Given the description of an element on the screen output the (x, y) to click on. 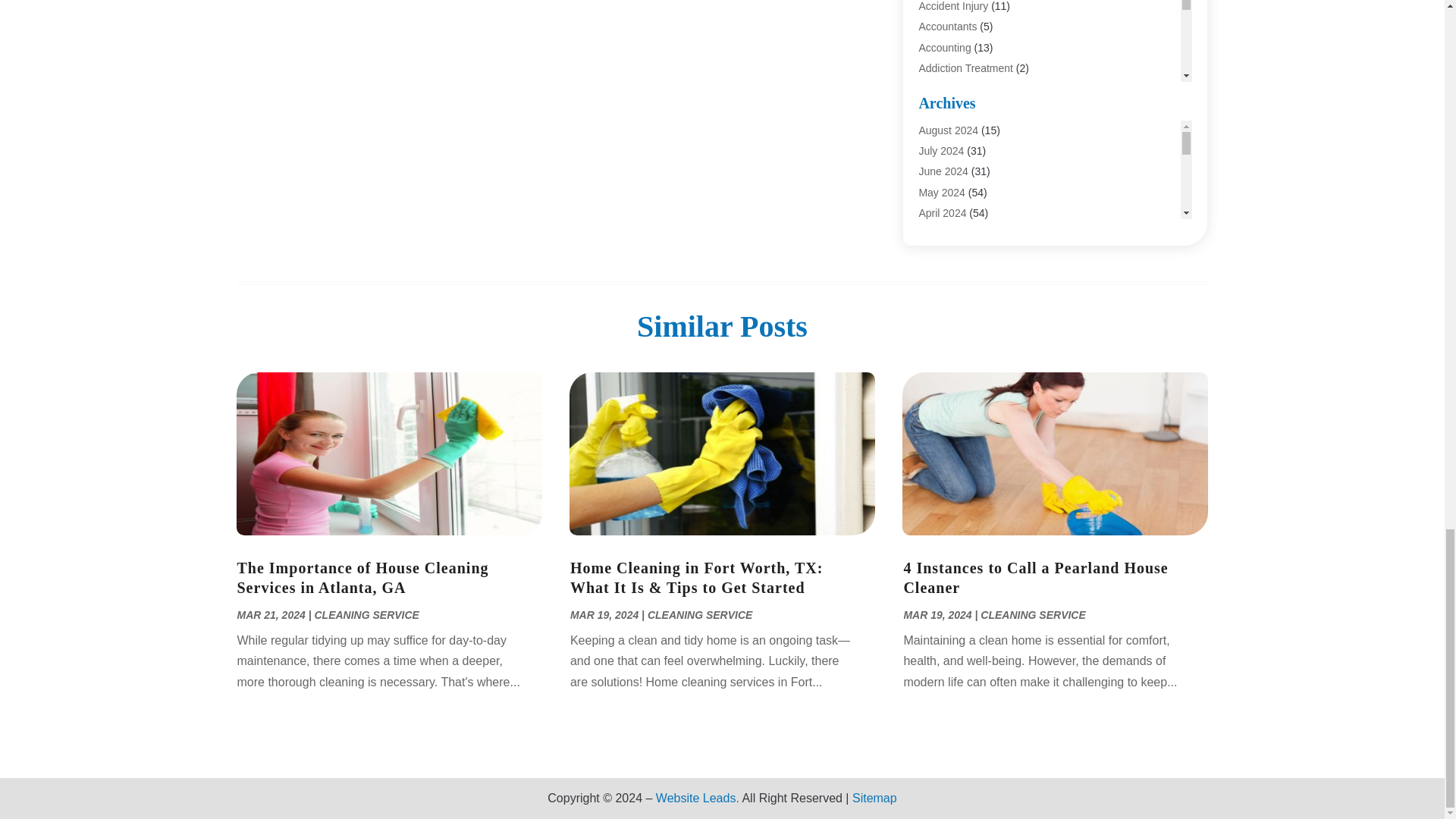
Accounting (944, 47)
Adoption (938, 129)
Accountants (947, 26)
Accident Injury (953, 6)
Addiction Treatment (965, 68)
Adventure And Sports (970, 150)
Addiction Treatment Center (982, 88)
Addiction Treatment Support (985, 109)
